Given the description of an element on the screen output the (x, y) to click on. 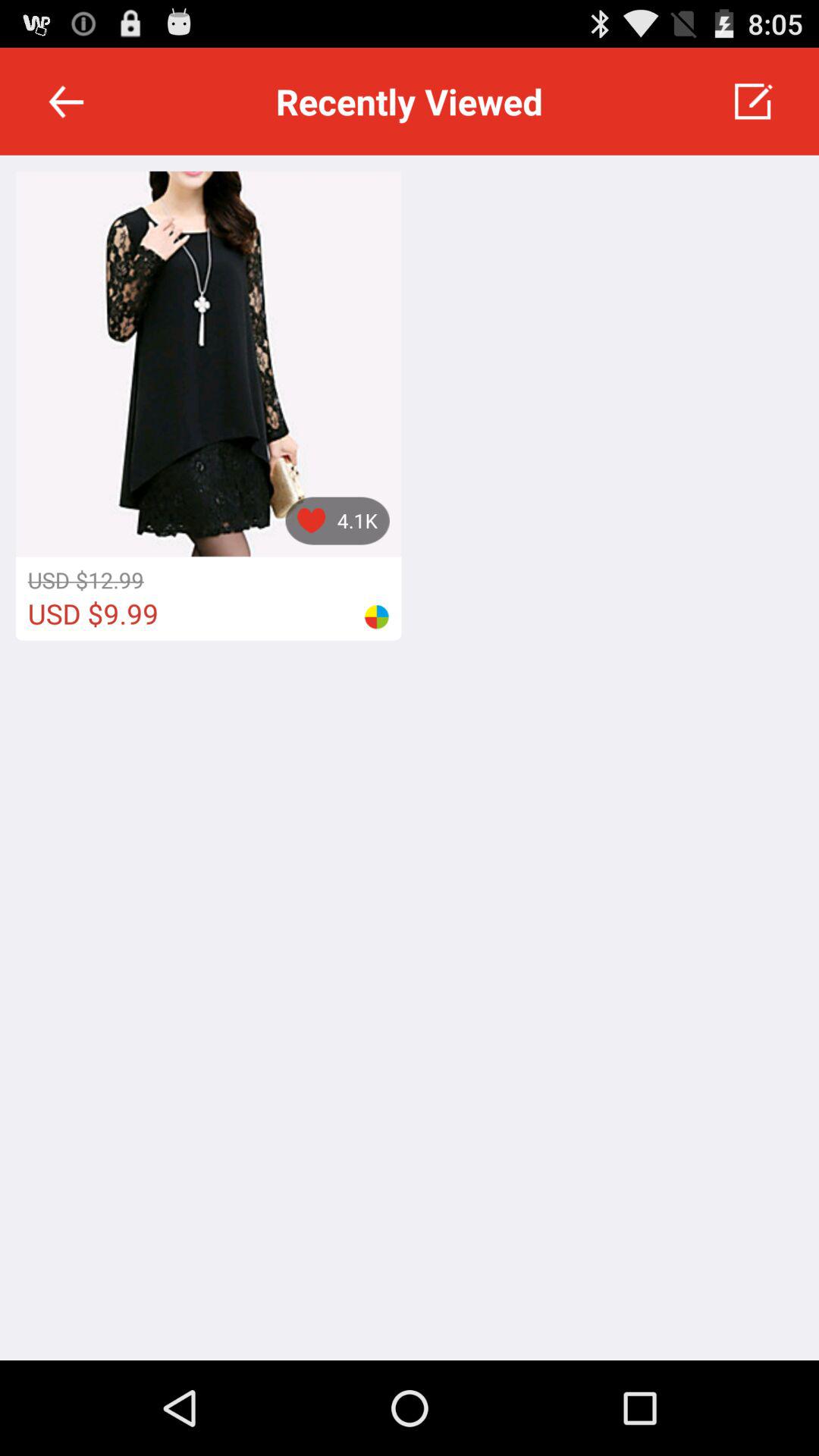
turn on the icon to the left of recently viewed (65, 101)
